Given the description of an element on the screen output the (x, y) to click on. 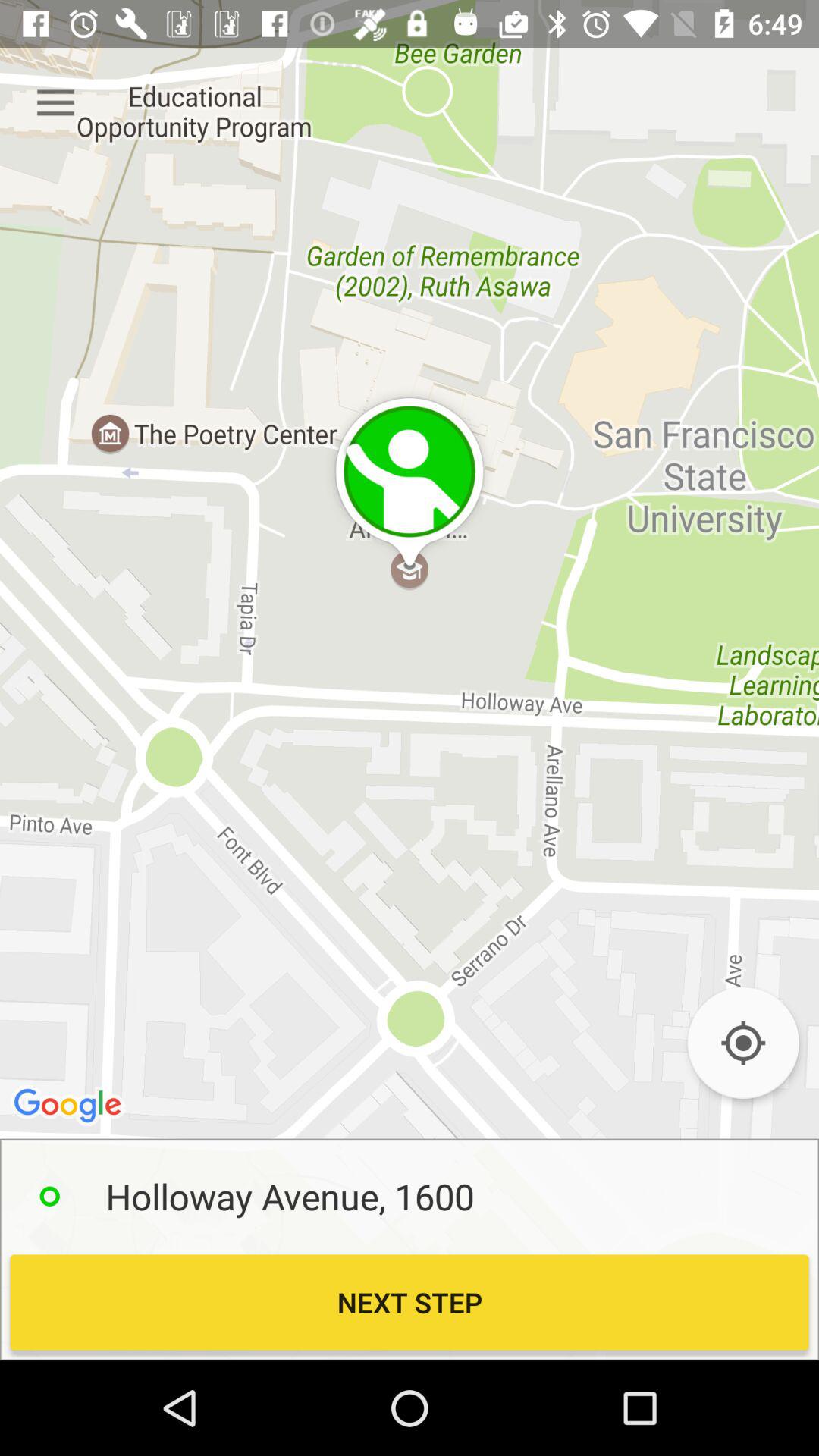
choose the item at the center (409, 680)
